Given the description of an element on the screen output the (x, y) to click on. 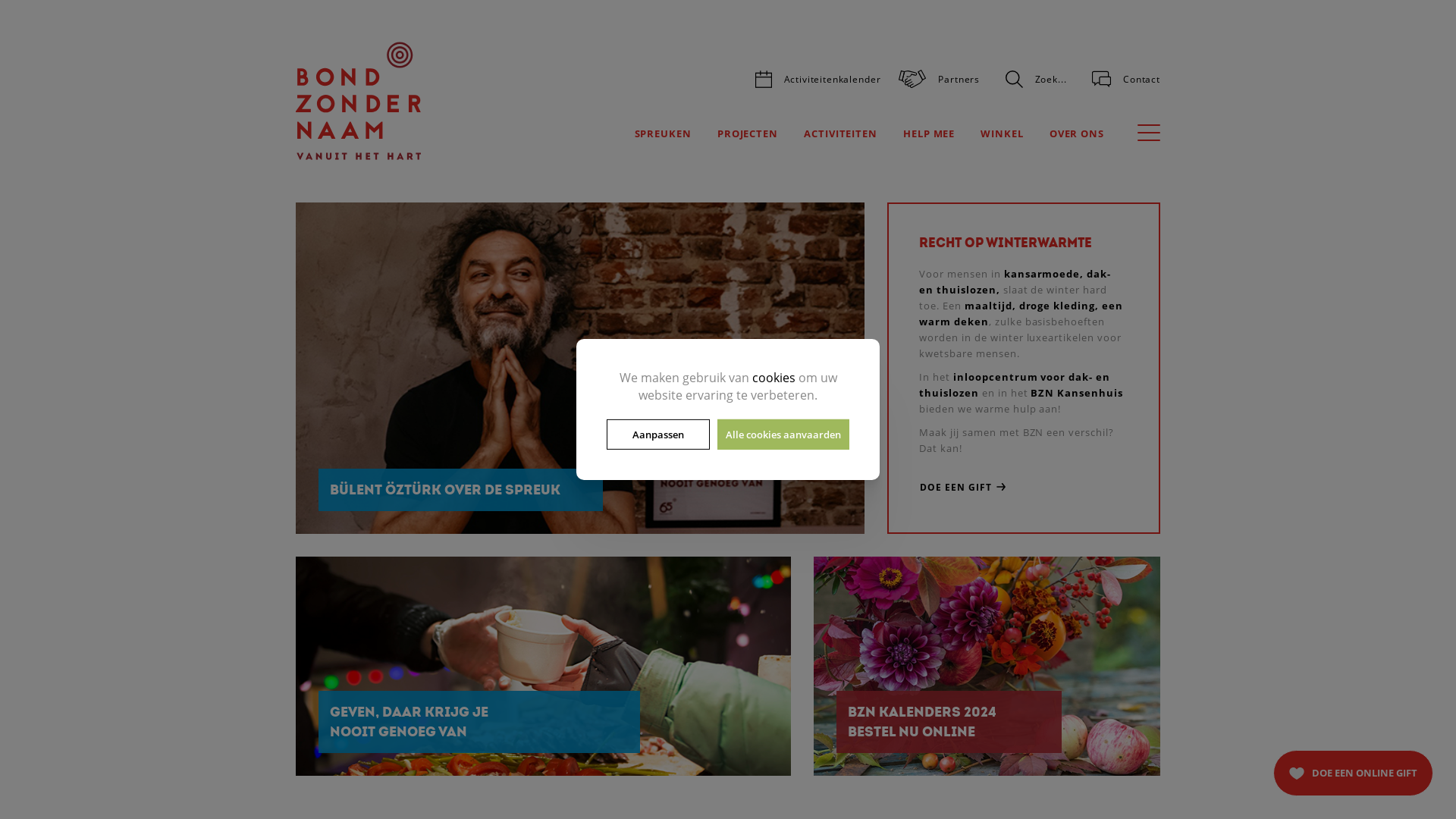
Zoek... Element type: text (1035, 78)
DOE EEN ONLINE GIFT Element type: text (1353, 772)
Contact Element type: text (1126, 78)
DOE EEN GIFT Element type: text (1023, 487)
Alle cookies aanvaarden Element type: text (783, 434)
Activiteitenkalender Element type: text (818, 78)
Toggle navigation Element type: text (1148, 132)
Aanpassen Element type: text (657, 434)
Partners Element type: text (938, 78)
cookies Element type: text (773, 377)
HELP MEE Element type: text (928, 133)
BZN KALENDERS 2024
BESTEL NU ONLINE Element type: text (986, 665)
OVER ONS Element type: text (1076, 133)
WINKEL Element type: text (1001, 133)
PROJECTEN Element type: text (747, 133)
SPREUKEN Element type: text (662, 133)
GEVEN, DAAR KRIJG JE
NOOIT GENOEG VAN Element type: text (542, 665)
ACTIVITEITEN Element type: text (840, 133)
